Given the description of an element on the screen output the (x, y) to click on. 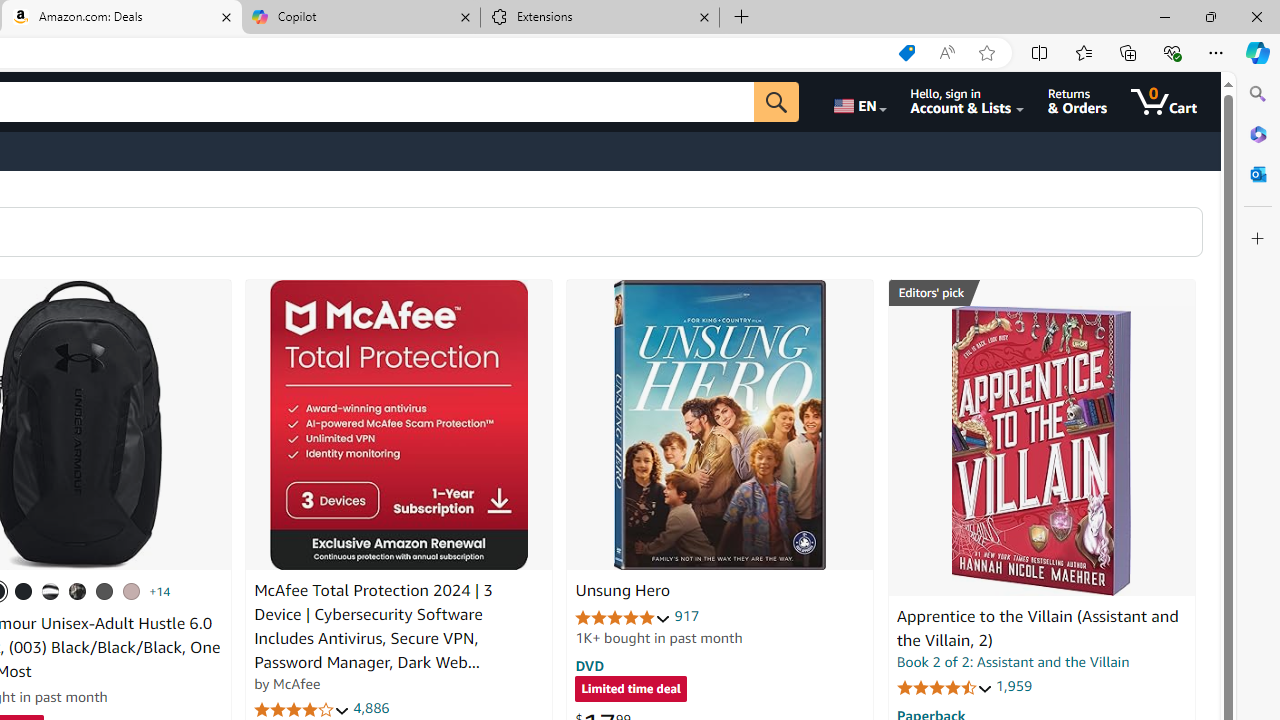
Apprentice to the Villain (Assistant and the Villain, 2) (1037, 628)
Book 2 of 2: Assistant and the Villain (1013, 662)
Go (776, 101)
1,959 (1013, 686)
4,886 (371, 708)
(005) Black Full Heather / Black / Metallic Gold (104, 591)
(015) Tetra Gray / Tetra Gray / Gray Matter (131, 591)
+14 (159, 591)
Apprentice to the Villain (Assistant and the Villain, 2) (1041, 451)
917 (687, 616)
4.9 out of 5 stars (623, 616)
Unsung Hero (622, 591)
